Given the description of an element on the screen output the (x, y) to click on. 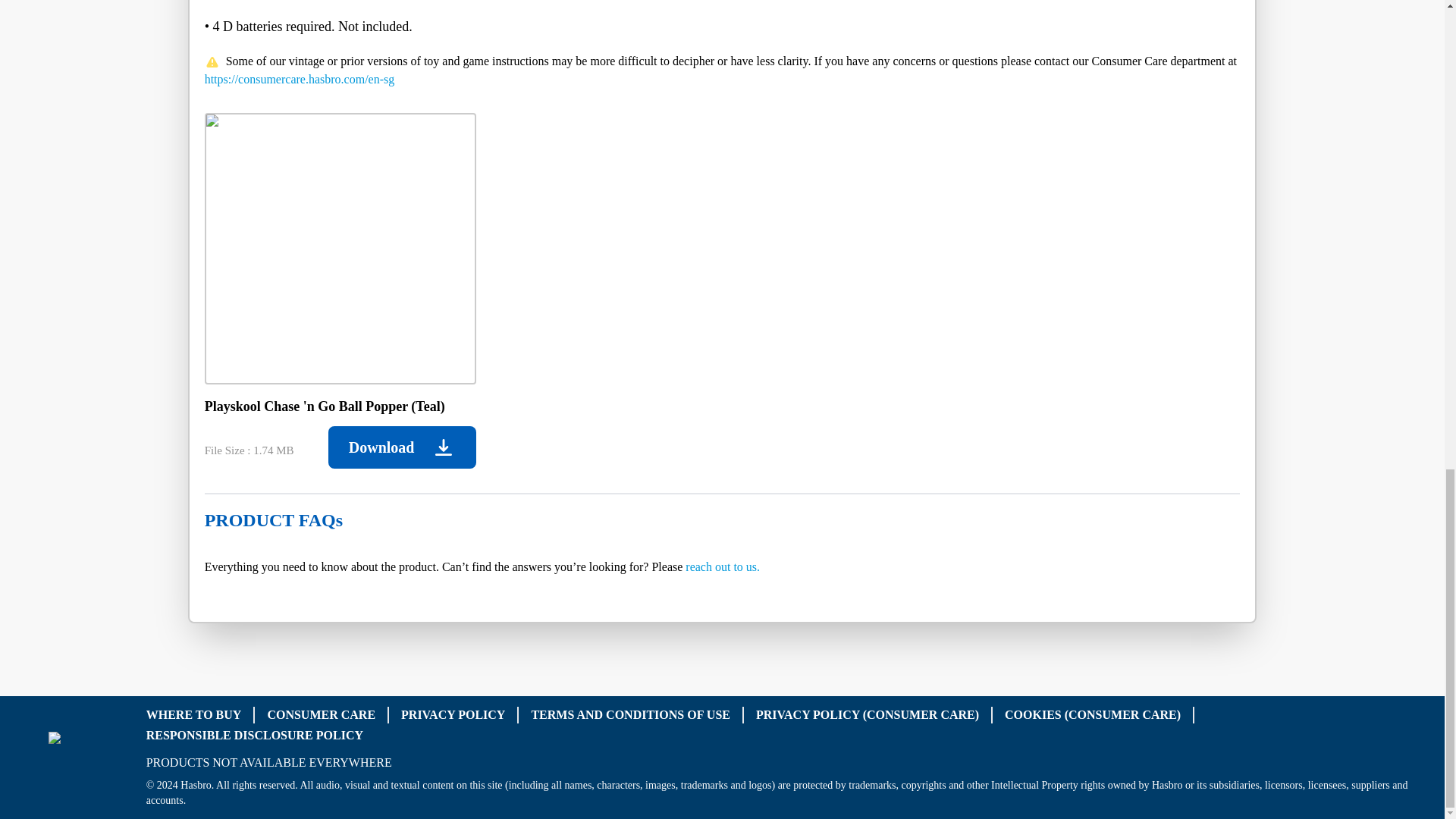
RESPONSIBLE DISCLOSURE POLICY (254, 734)
PRIVACY POLICY (453, 714)
CONSUMER CARE (320, 714)
TERMS AND CONDITIONS OF USE (630, 714)
WHERE TO BUY (194, 714)
reach out to us. (722, 566)
Download (402, 446)
